Given the description of an element on the screen output the (x, y) to click on. 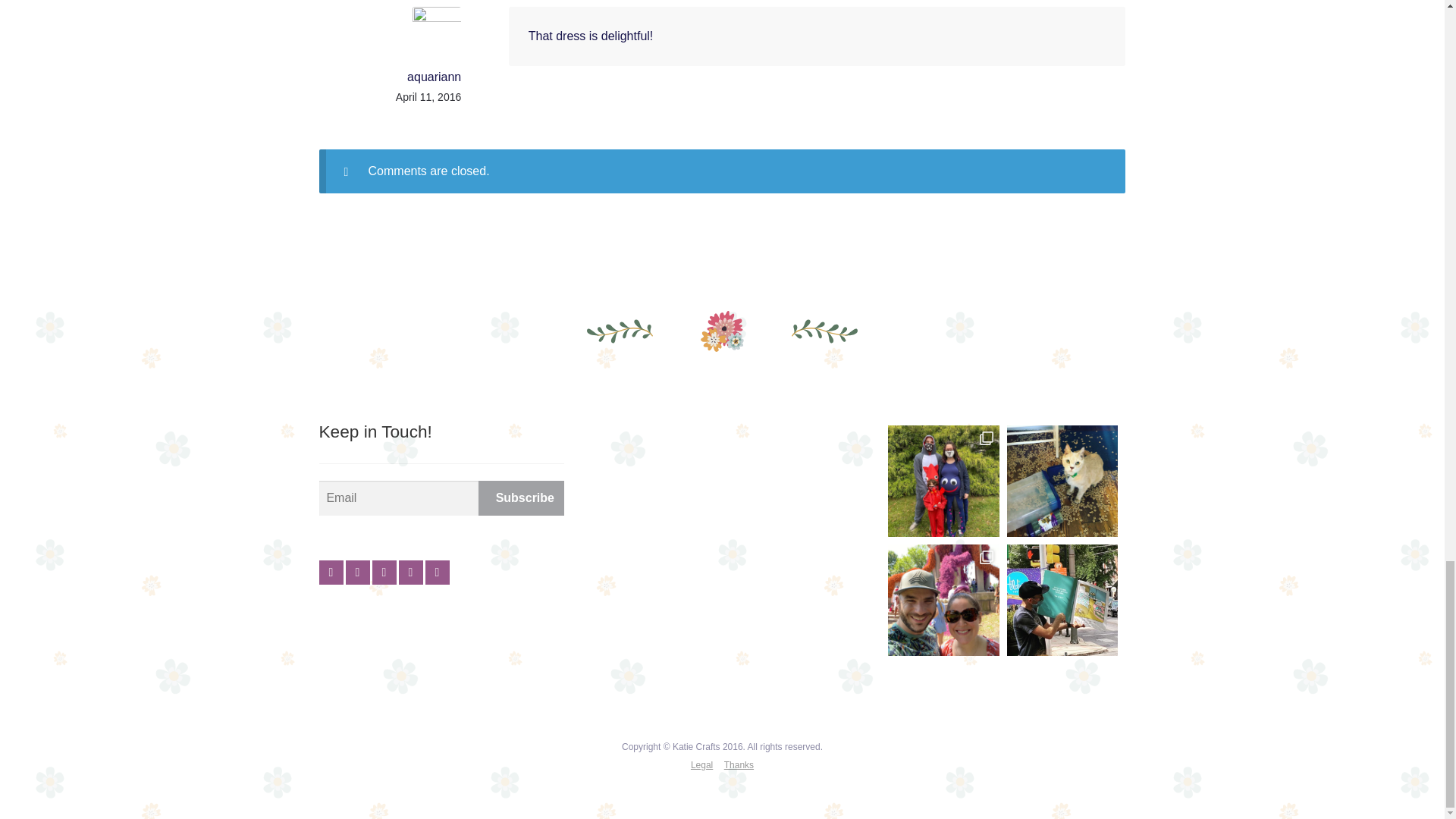
Follow Katie Crafts on Instagram (384, 572)
Follow Katie Crafts on Facebook (330, 572)
Subscribe (521, 497)
Follow Katie Crafts on Twitter (357, 572)
